Given the description of an element on the screen output the (x, y) to click on. 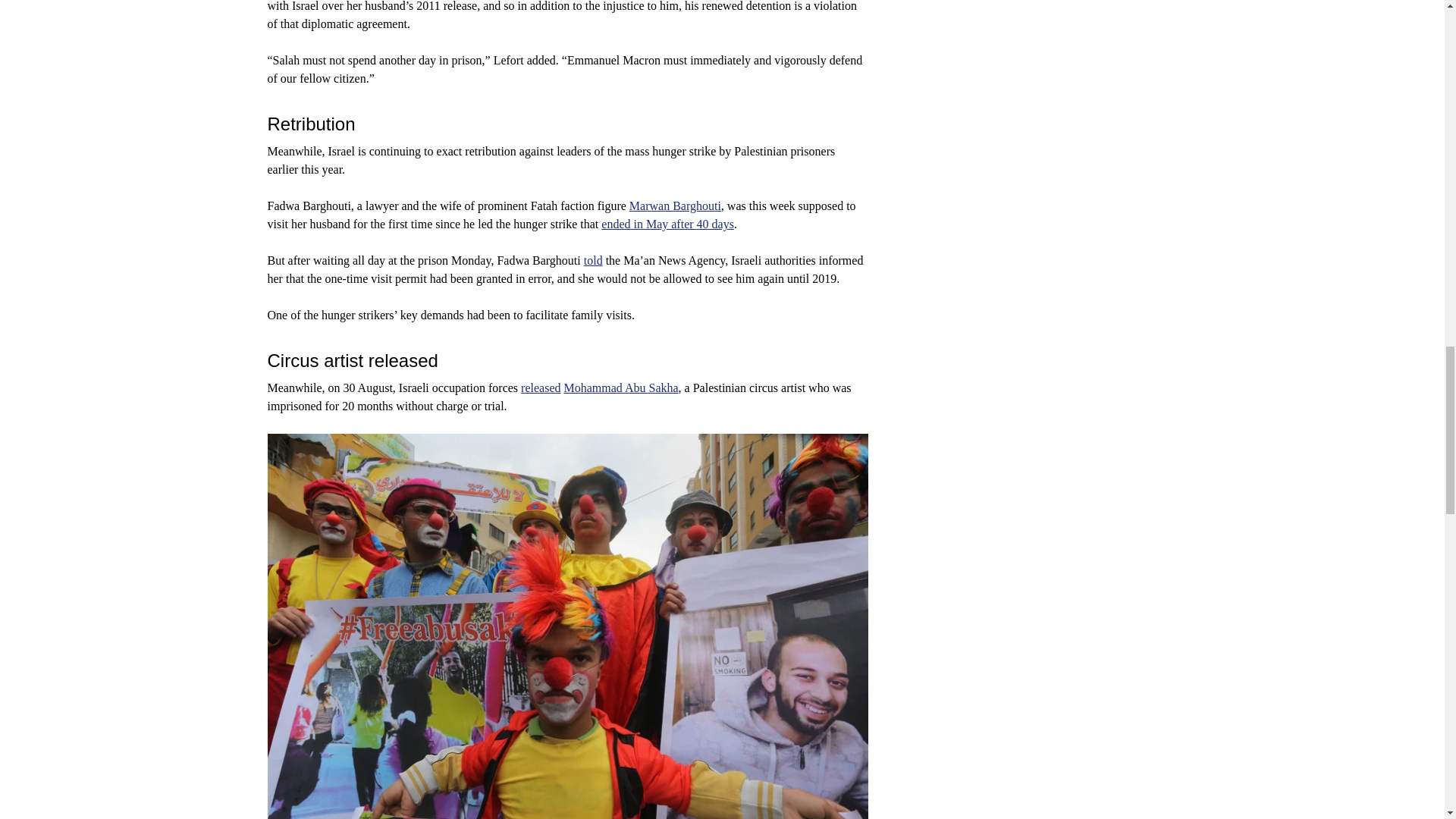
ended in May after 40 days (667, 223)
Marwan Barghouti (674, 205)
Mohammad Abu Sakha (620, 387)
released (540, 387)
told (592, 259)
